Given the description of an element on the screen output the (x, y) to click on. 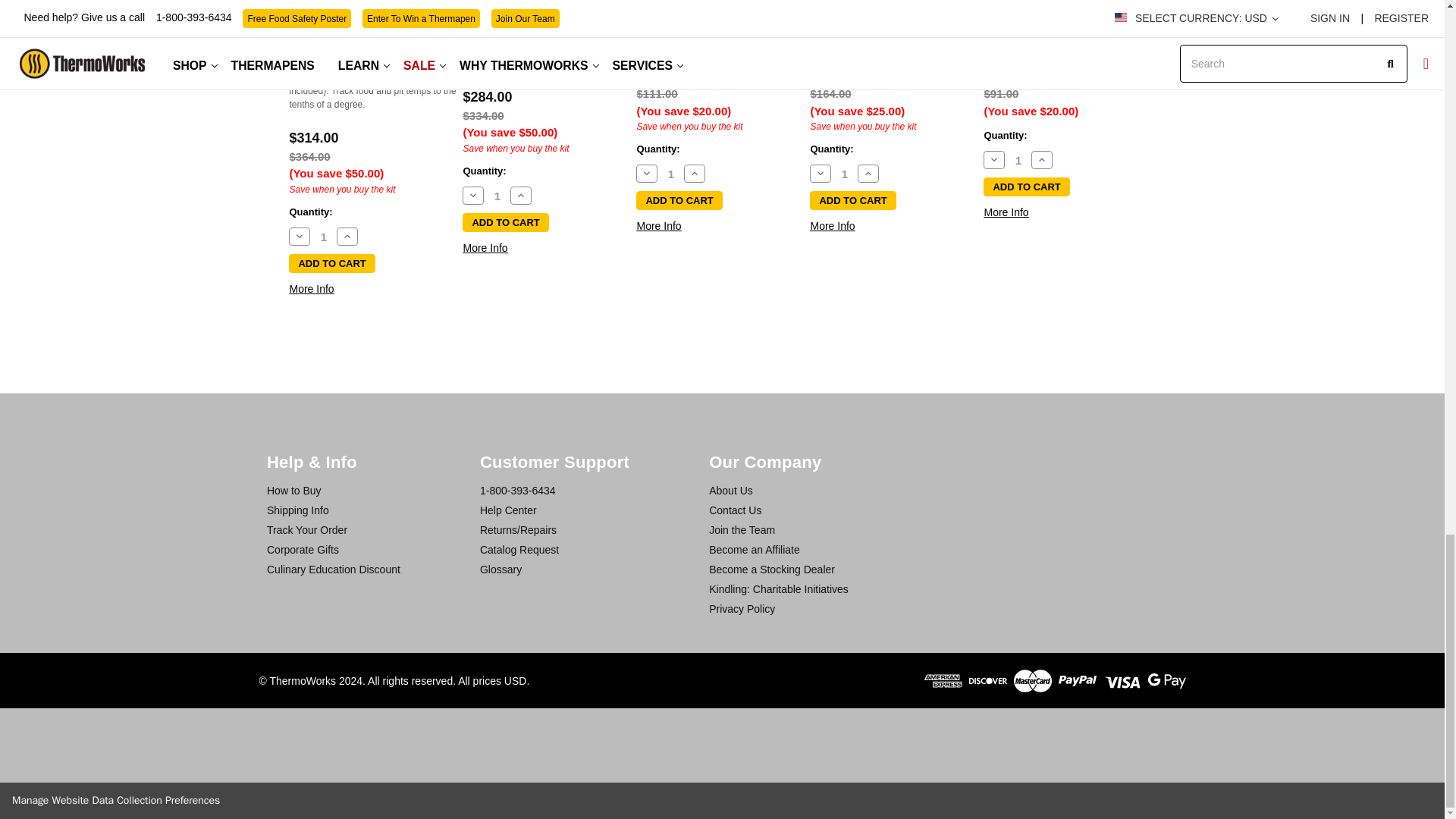
Add to cart (331, 262)
1 (844, 173)
Add to cart (1026, 186)
1 (323, 236)
Add to cart (679, 199)
1 (671, 173)
Add to cart (505, 221)
1 (1017, 160)
1 (497, 195)
Add to cart (852, 199)
